Given the description of an element on the screen output the (x, y) to click on. 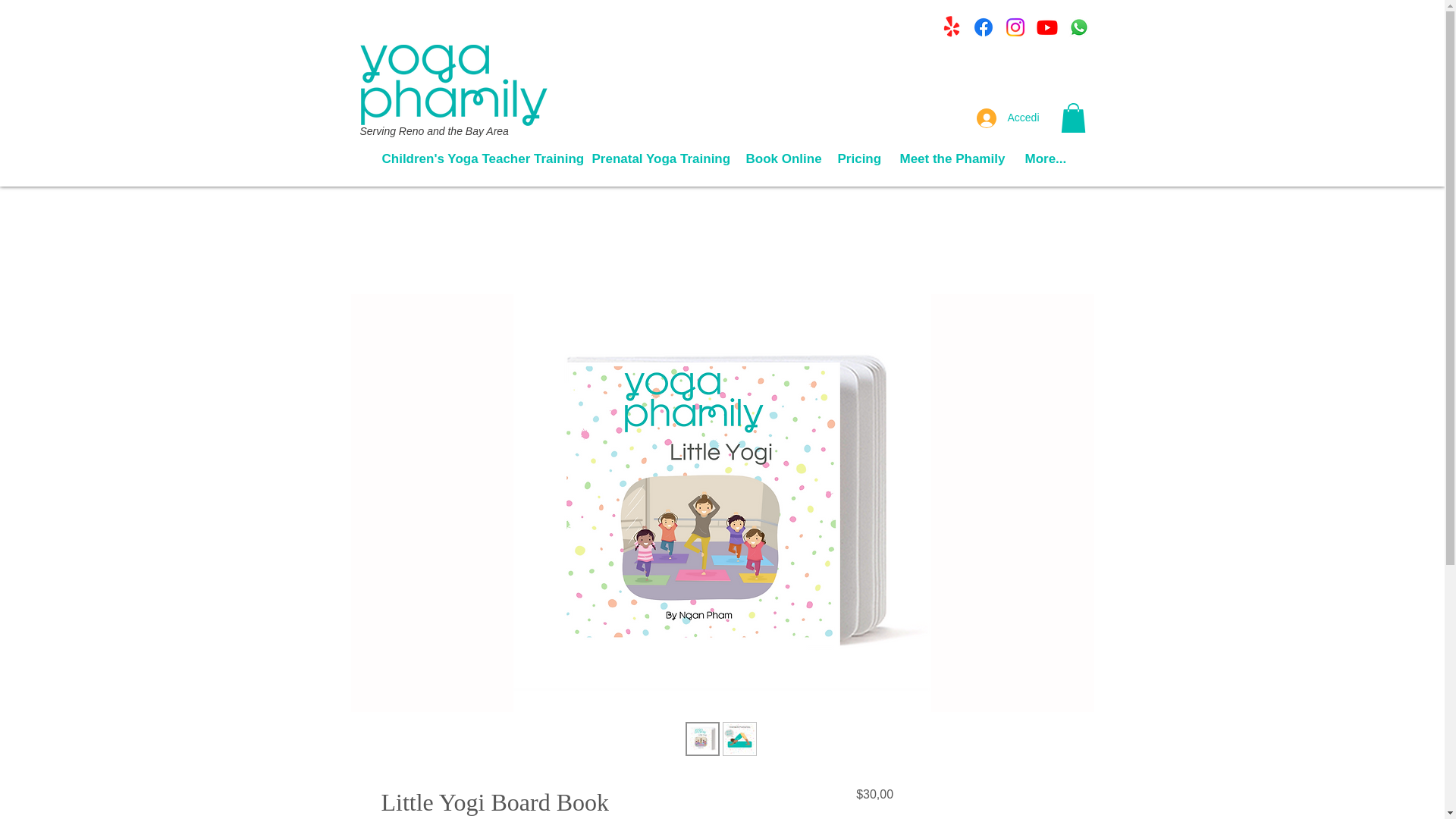
Children's Yoga Teacher Training (474, 158)
Accedi (1007, 118)
Book Online (779, 158)
Meet the Phamily (950, 158)
Pricing (857, 158)
Prenatal Yoga Training (657, 158)
